Given the description of an element on the screen output the (x, y) to click on. 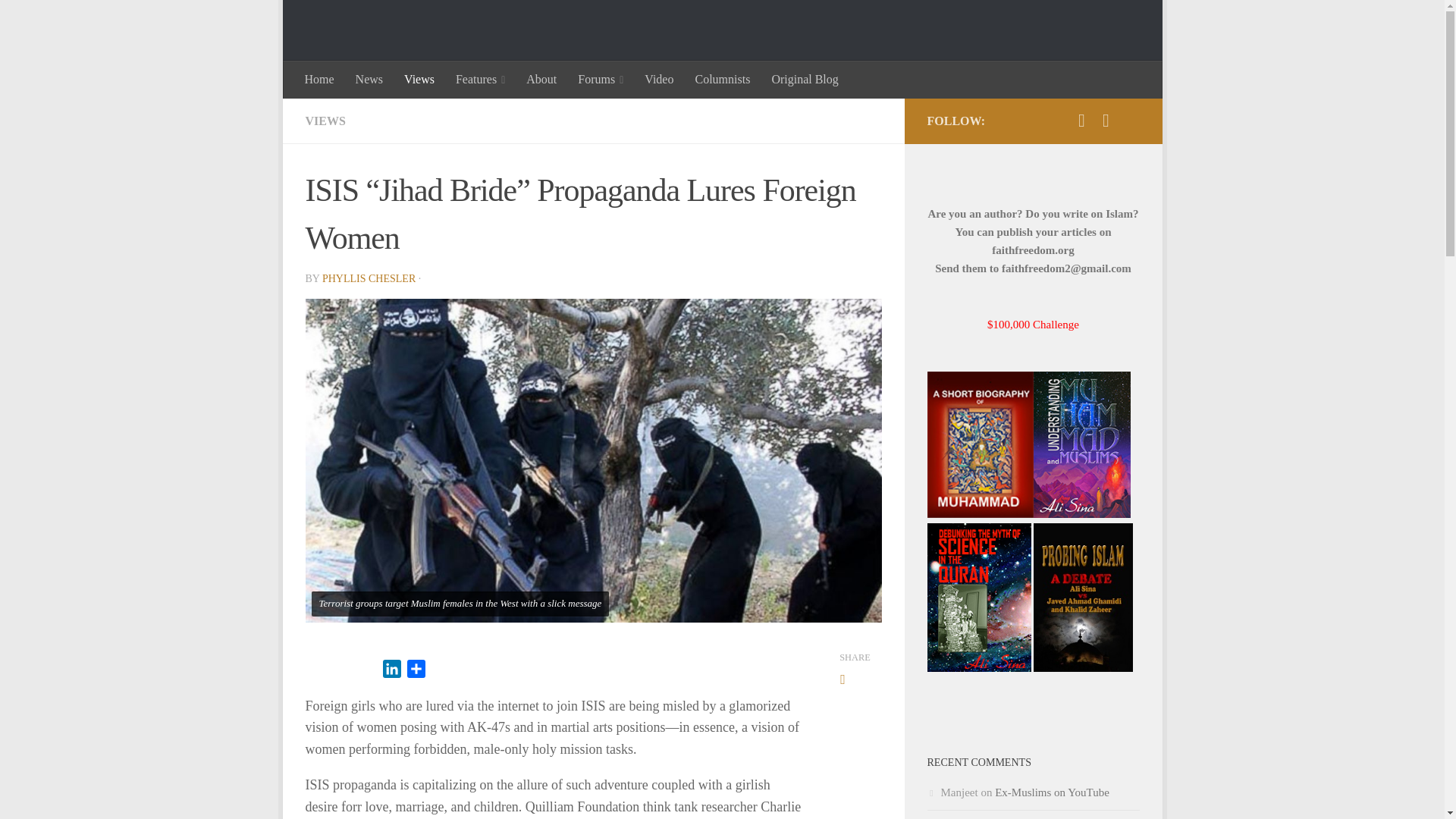
Forums (600, 79)
Home (319, 79)
News (369, 79)
Features (480, 79)
Twitter (1080, 120)
Posts by Phyllis Chesler (367, 278)
About (541, 79)
LinkedIn (390, 671)
Skip to content (341, 20)
Facebook (1105, 120)
Views (419, 79)
